Given the description of an element on the screen output the (x, y) to click on. 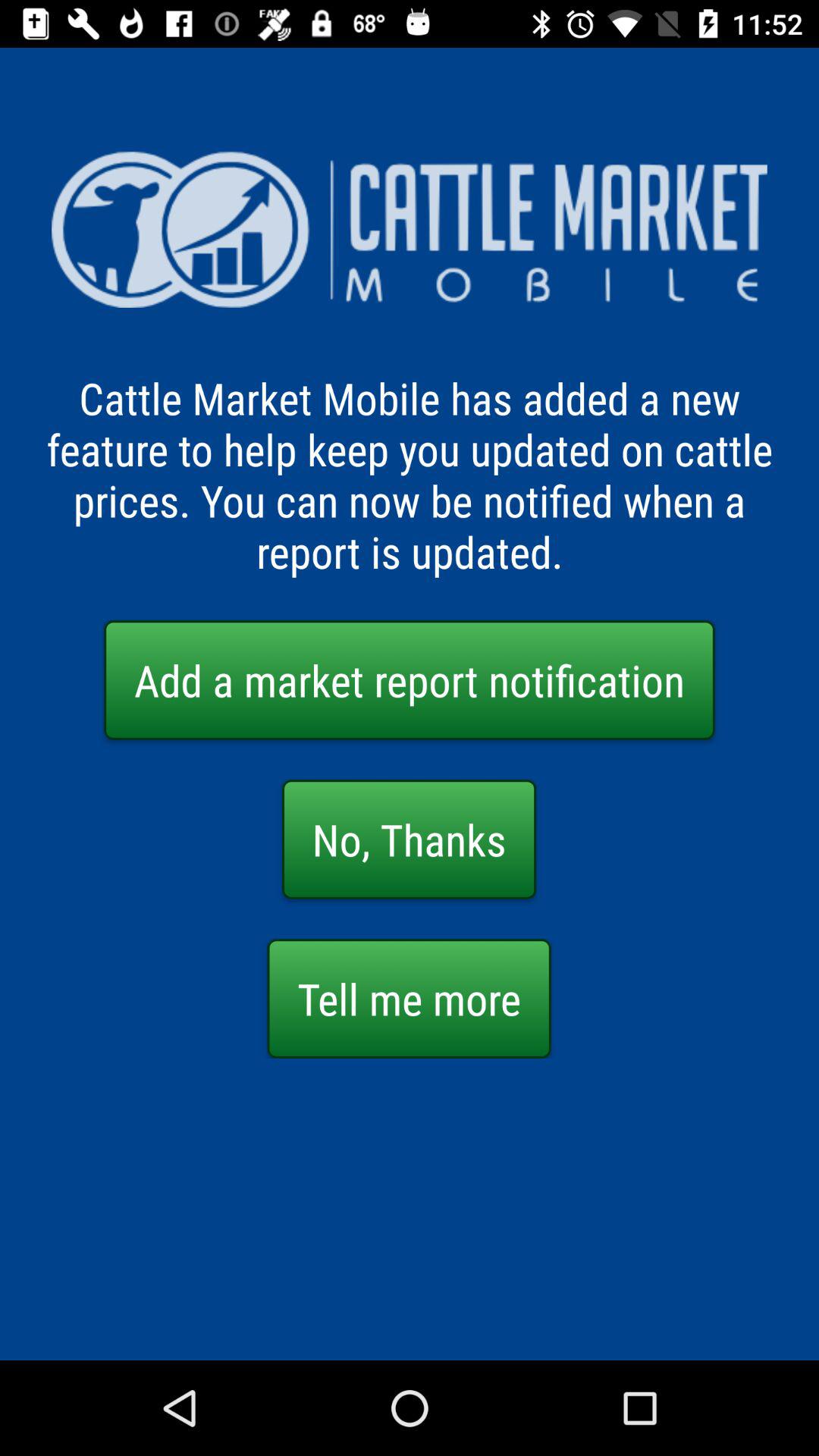
open no, thanks (409, 839)
